Given the description of an element on the screen output the (x, y) to click on. 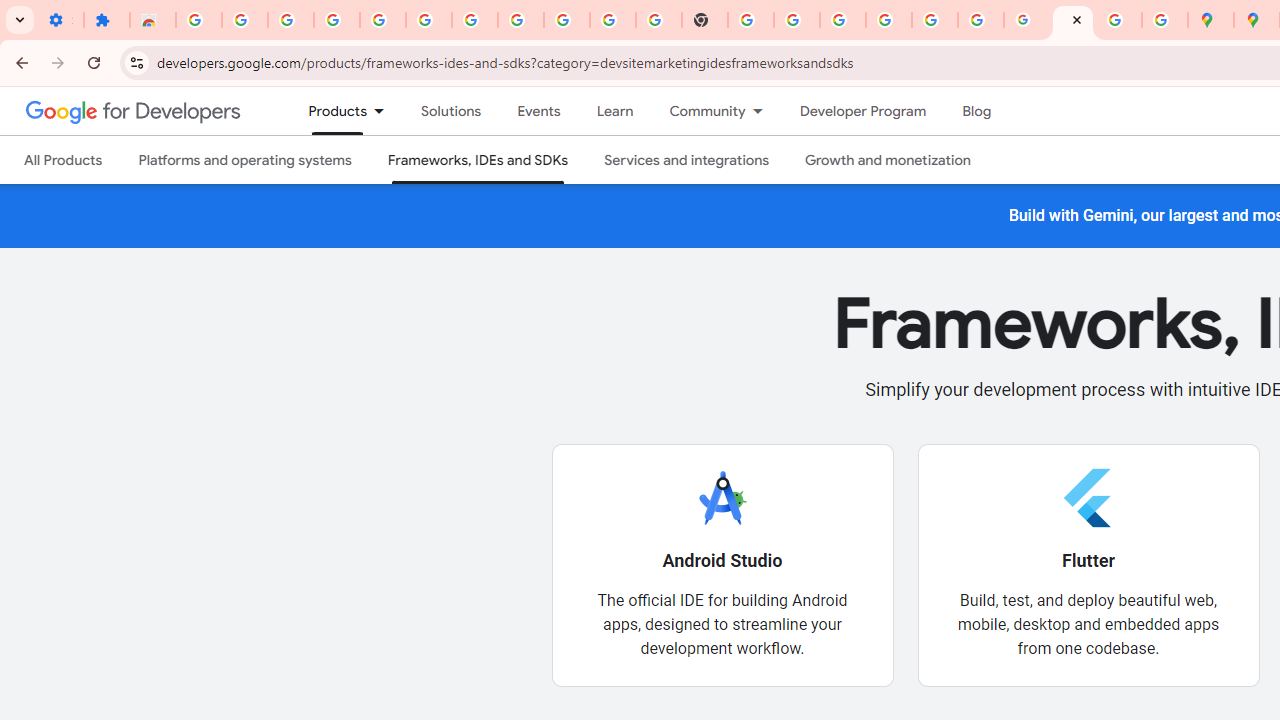
YouTube (613, 20)
Delete photos & videos - Computer - Google Photos Help (336, 20)
Extensions (107, 20)
Frameworks, IDEs and SDKs, selected (477, 160)
Services and integrations (687, 160)
Developer Program (862, 111)
Events (538, 111)
Flutter logo (1088, 497)
New Tab (705, 20)
Settings - On startup (60, 20)
Blog (976, 111)
